Given the description of an element on the screen output the (x, y) to click on. 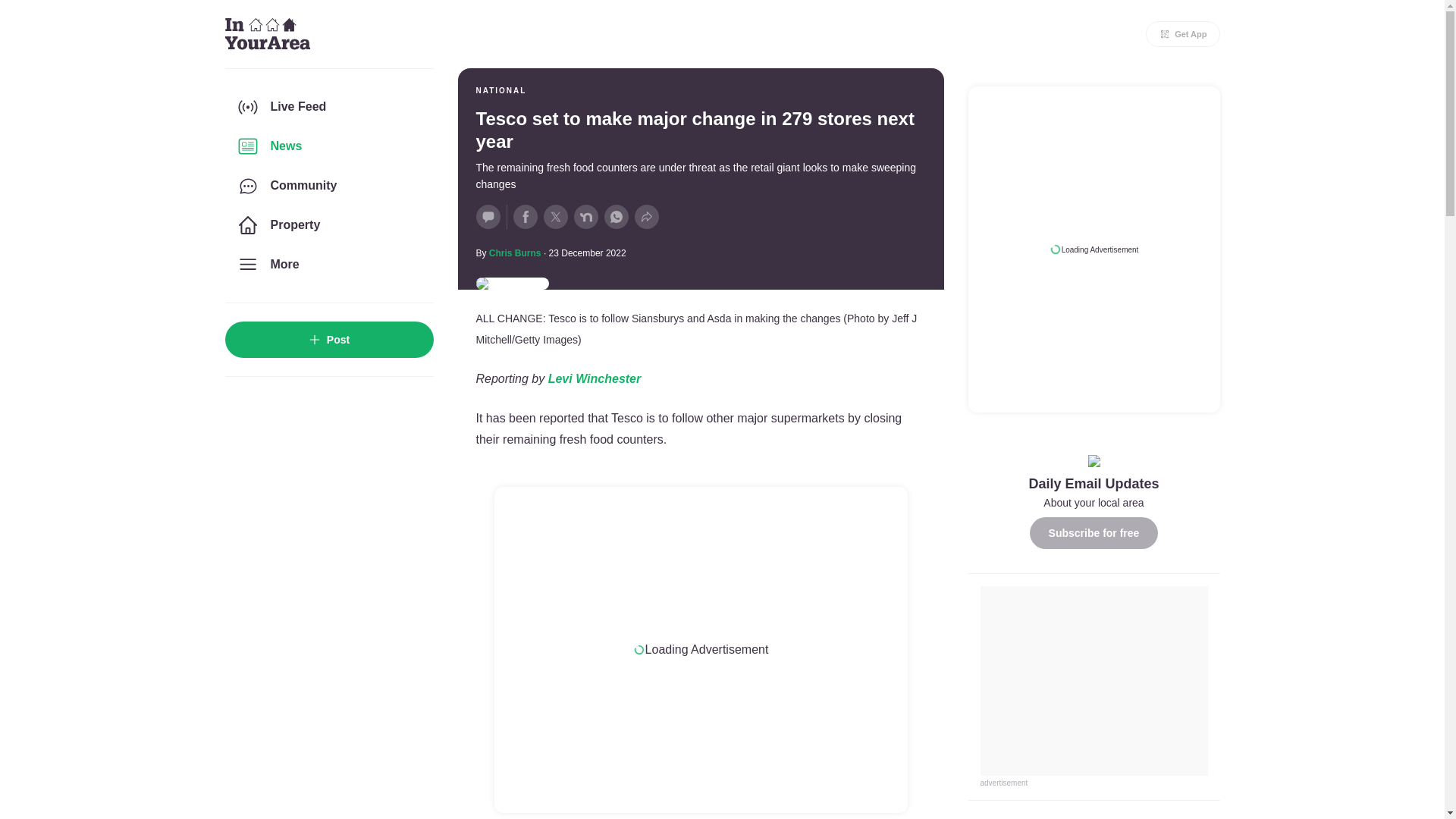
Social Button (488, 216)
Get App (1182, 33)
Share to X (555, 216)
Share to Whatsapp (615, 216)
Share to ... (645, 216)
Community (328, 185)
Post (328, 339)
Property (328, 224)
News (328, 146)
Live Feed (328, 106)
Get App (1182, 33)
Share to Facebook (524, 216)
Share to Nextdoor (584, 216)
NATIONAL (501, 90)
